Given the description of an element on the screen output the (x, y) to click on. 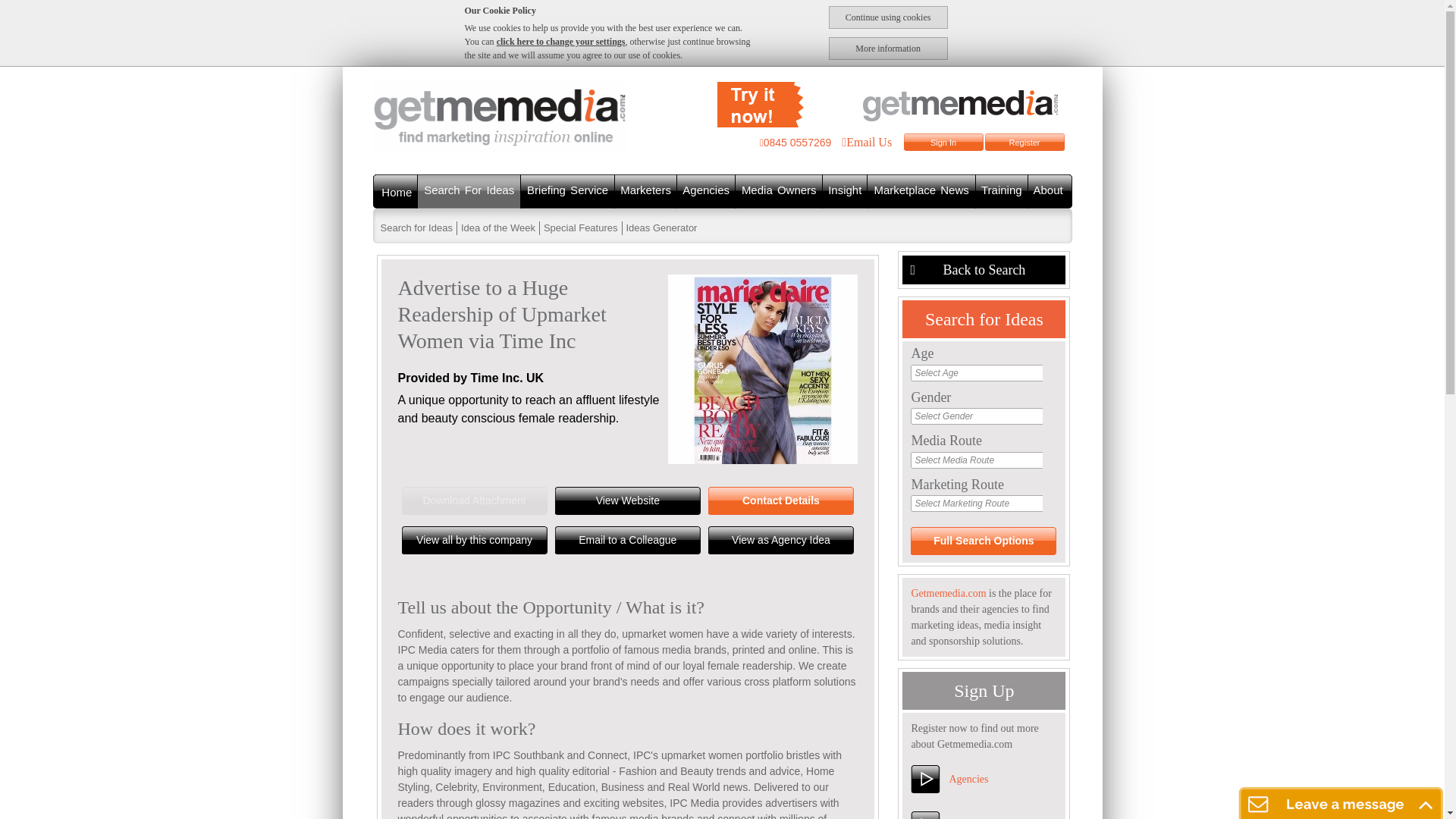
Sign In (944, 143)
Media Owners (778, 191)
Home (395, 192)
Insight (844, 191)
Select Gender (976, 415)
More information (887, 47)
Marketers (645, 191)
Select Marketing Route (976, 503)
Briefing Service (567, 191)
Email Us (862, 141)
Search For Ideas (468, 191)
Select Age (976, 372)
GetMeMedia (894, 104)
0845 0557269 (795, 142)
GetMeMedia.com (499, 117)
